Given the description of an element on the screen output the (x, y) to click on. 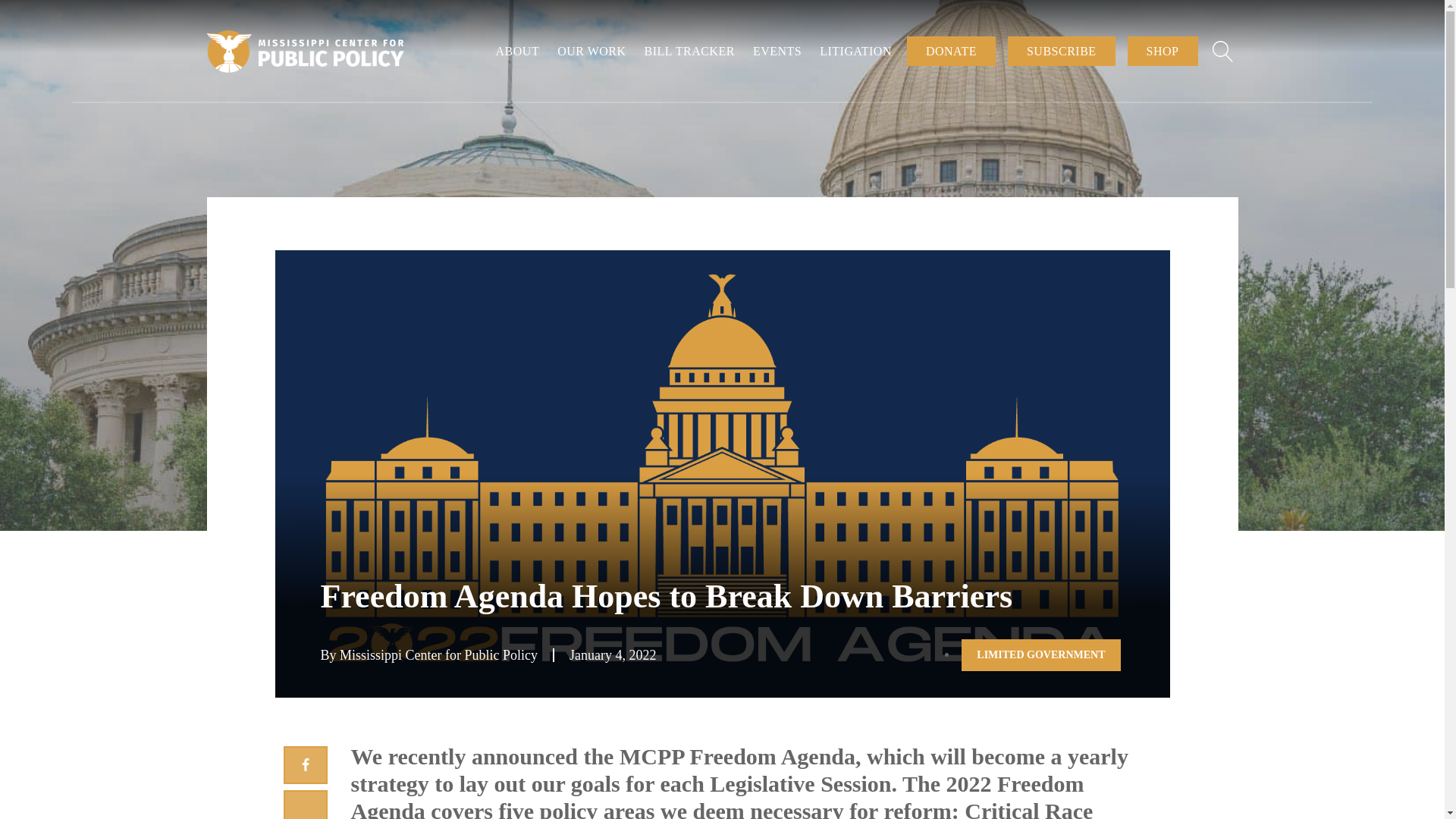
Search (27, 10)
SUBSCRIBE (1061, 51)
SHOP (1162, 51)
EVENTS (777, 51)
OUR WORK (591, 51)
DONATE (951, 51)
LITIGATION (855, 51)
ABOUT (518, 51)
LIMITED GOVERNMENT (1039, 654)
BILL TRACKER (690, 51)
